Given the description of an element on the screen output the (x, y) to click on. 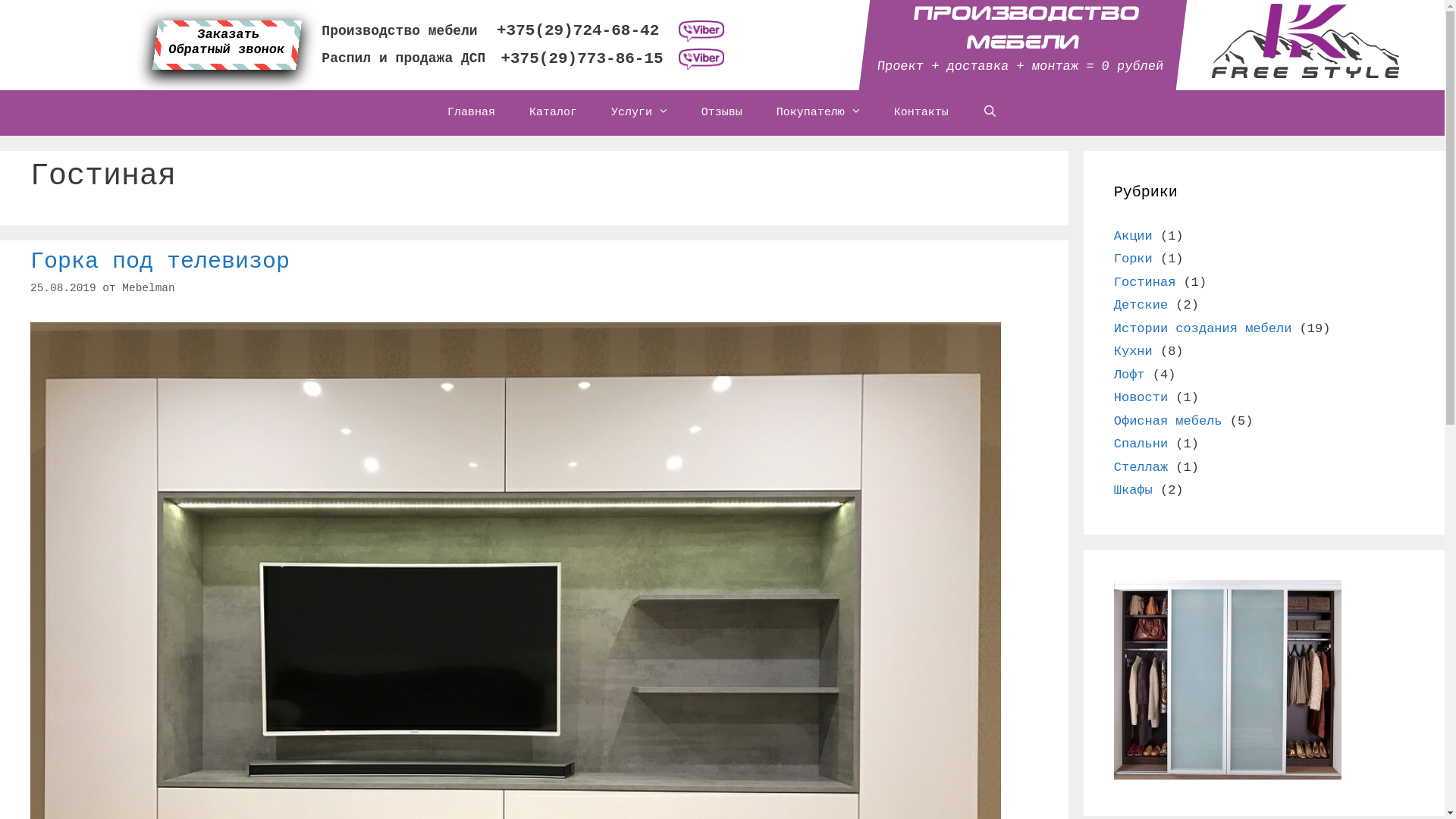
+375(29)724-68-42 Element type: text (577, 30)
Mebelman Element type: text (148, 288)
+375(29)773-86-15 Element type: text (581, 59)
25.08.2019 Element type: text (63, 288)
